Given the description of an element on the screen output the (x, y) to click on. 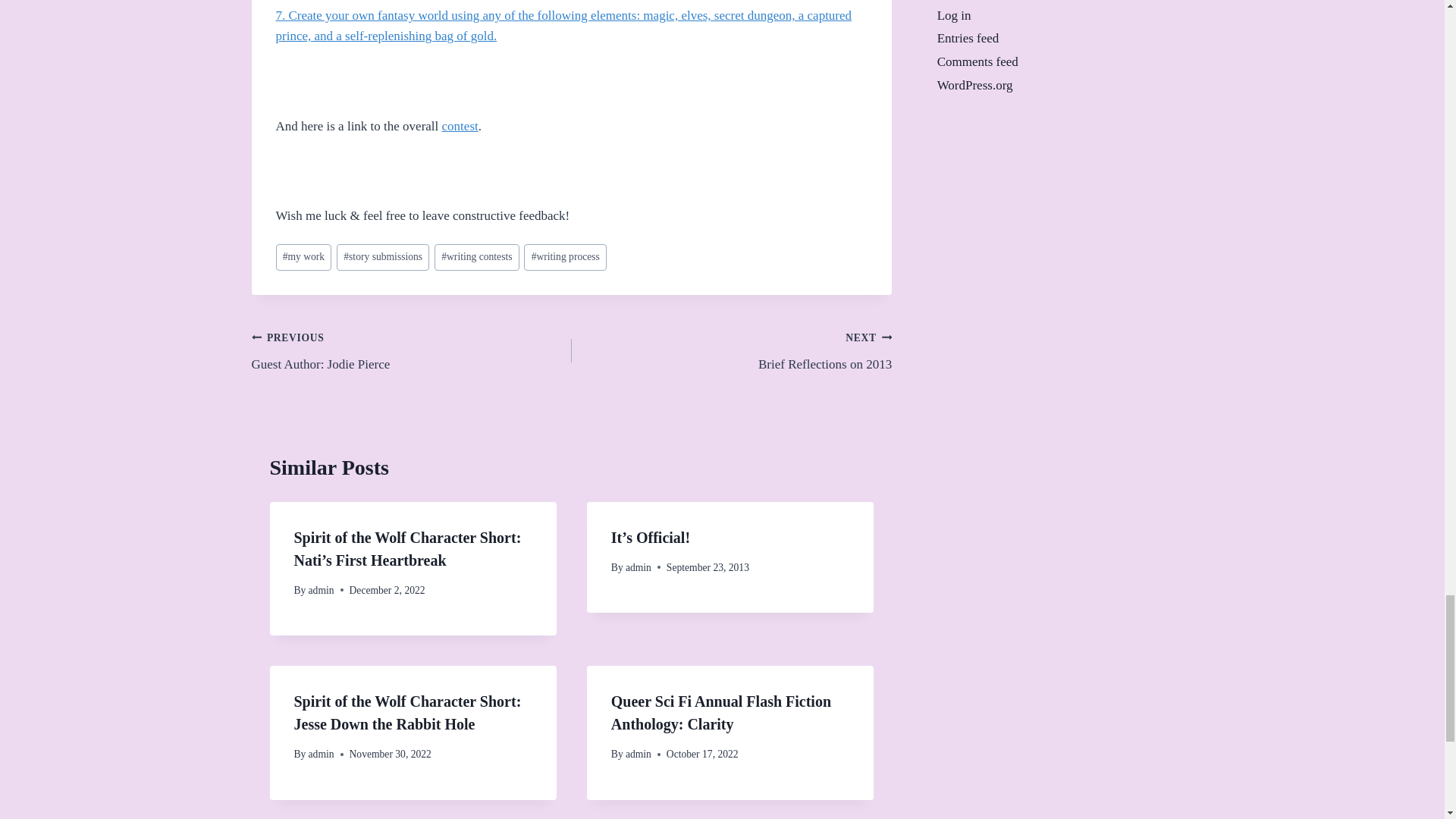
contest (411, 350)
my work (460, 125)
admin (303, 257)
admin (321, 590)
story submissions (731, 350)
writing process (638, 567)
writing contests (382, 257)
